Given the description of an element on the screen output the (x, y) to click on. 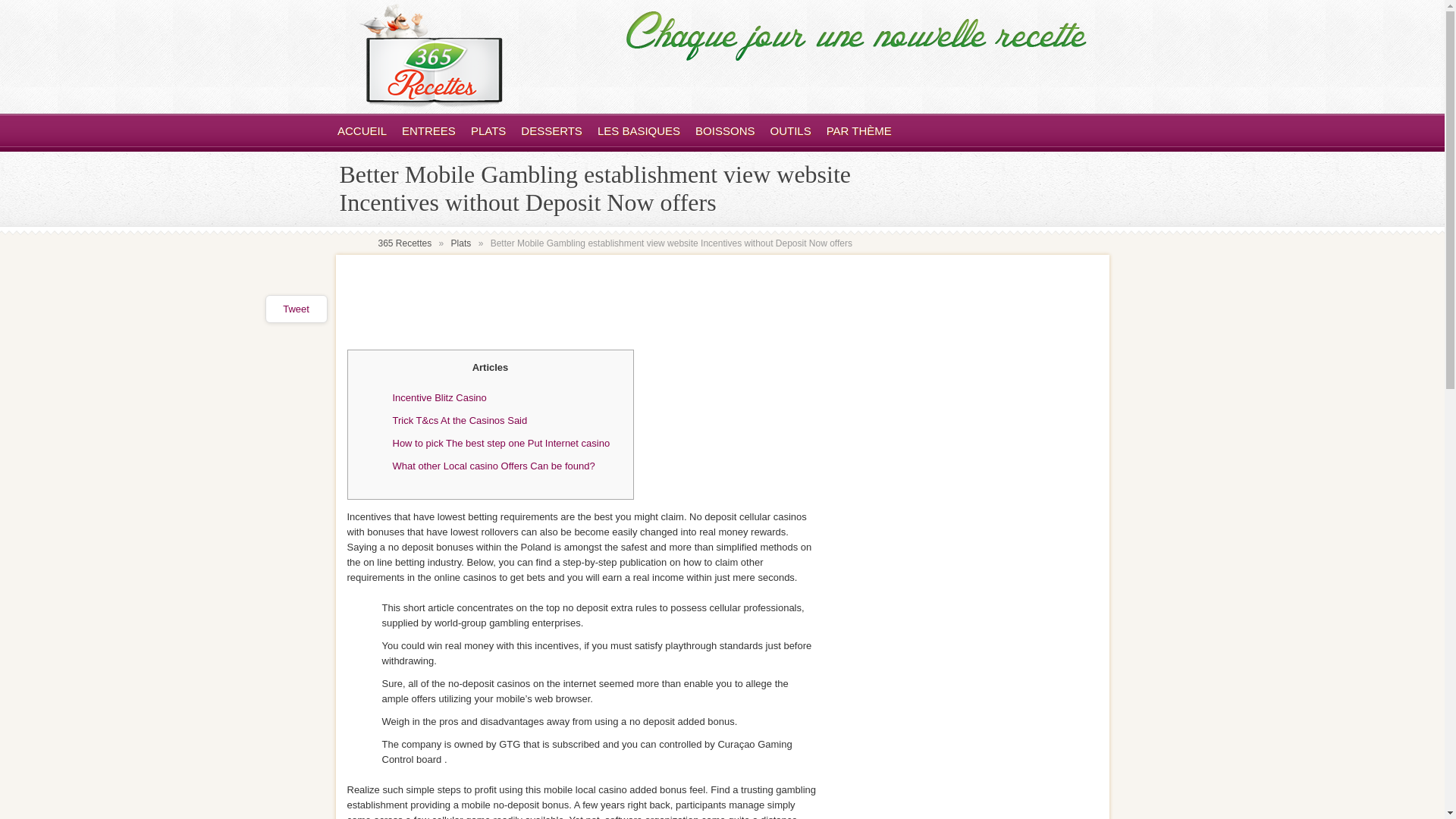
LES BASIQUES (637, 130)
Site de recettes (430, 103)
PLATS (487, 130)
Recettes de plats (487, 130)
ENTREES (428, 130)
Site de recettes (362, 130)
DESSERTS (551, 130)
BOISSONS (724, 130)
ACCUEIL (362, 130)
